Given the description of an element on the screen output the (x, y) to click on. 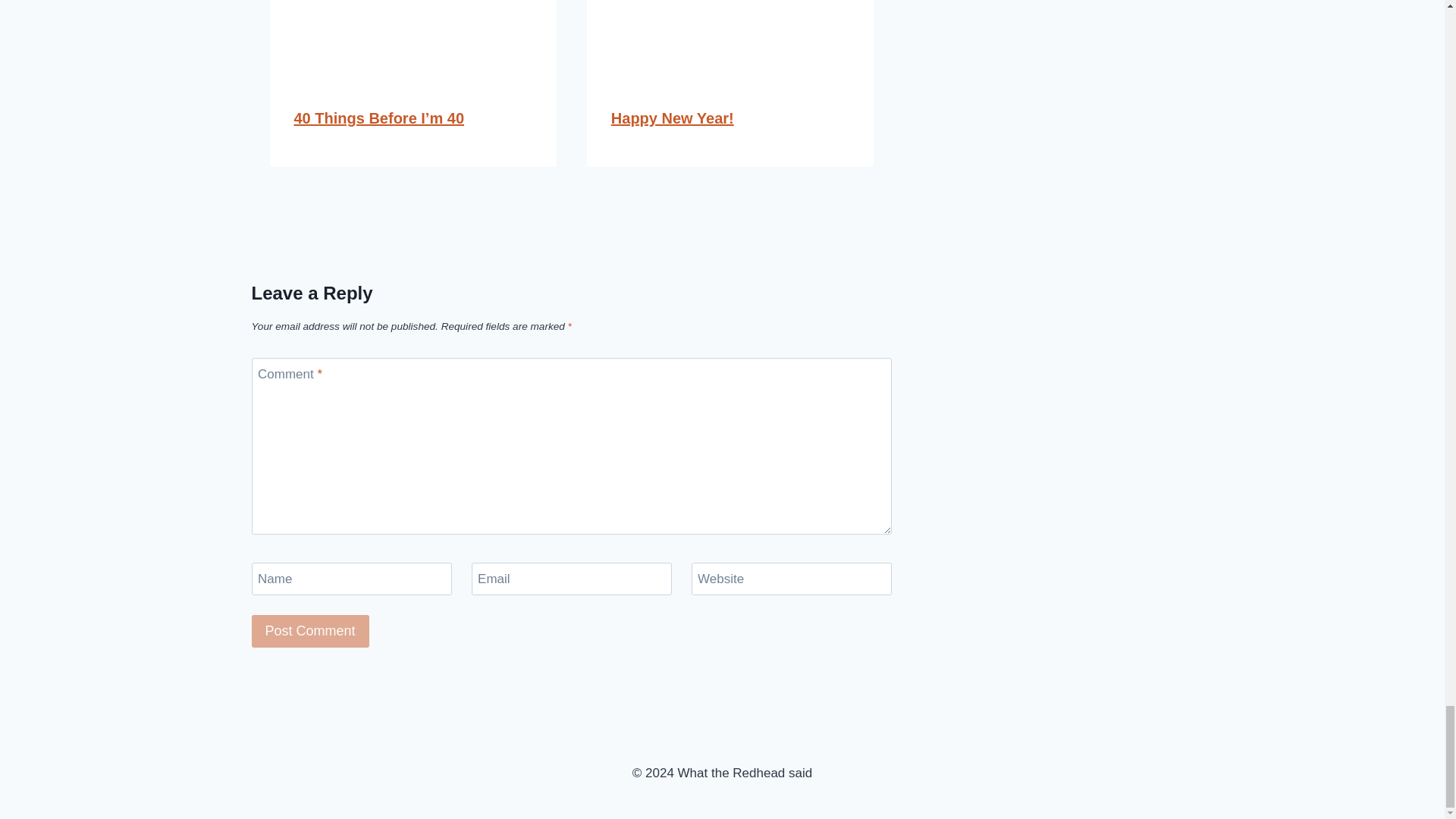
Post Comment (310, 631)
